Given the description of an element on the screen output the (x, y) to click on. 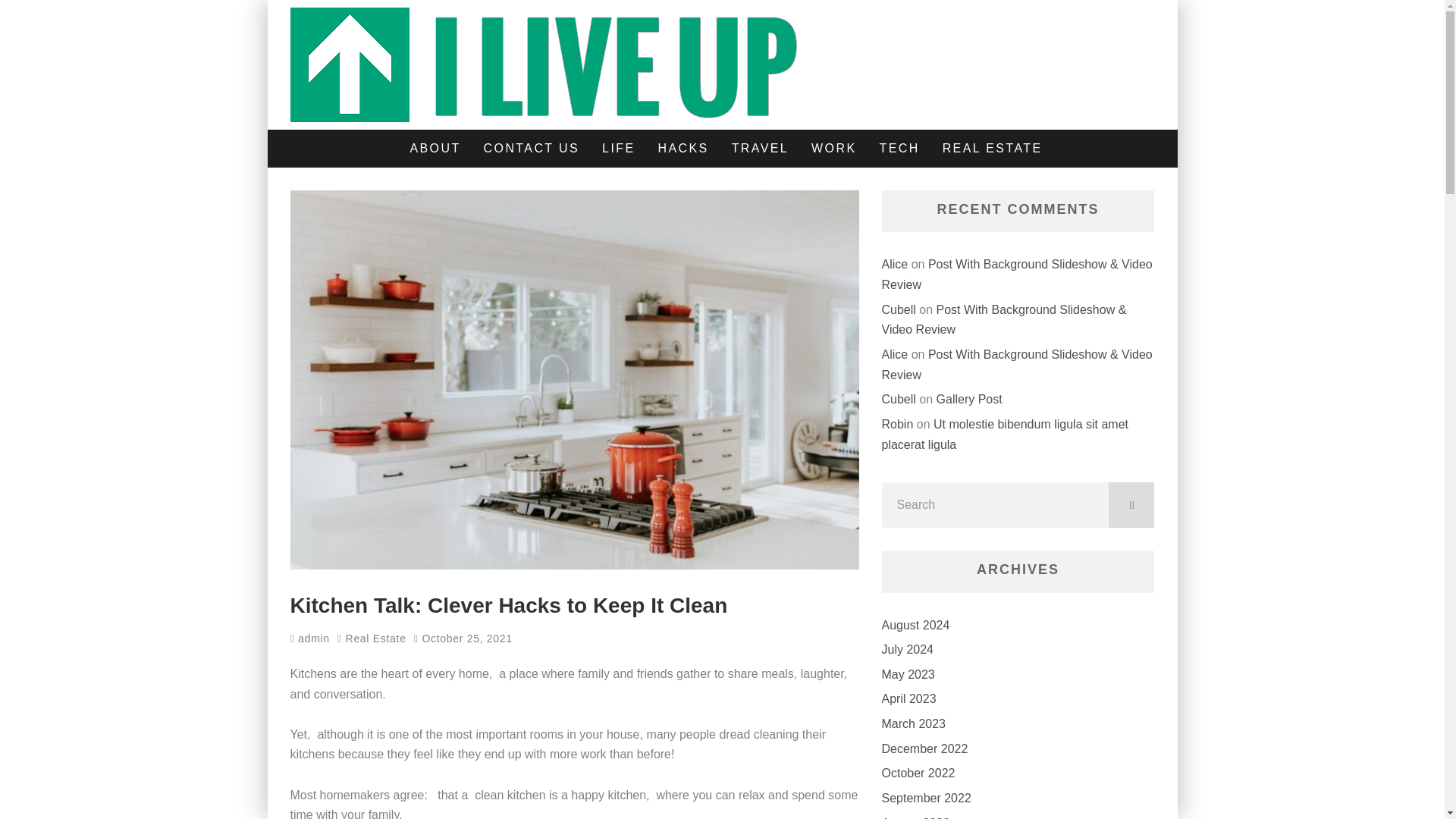
LIFE (618, 148)
CONTACT US (531, 148)
Real Estate (376, 638)
ABOUT (434, 148)
August 2024 (914, 625)
Alice (893, 354)
Alice (893, 264)
Robin (896, 423)
WORK (833, 148)
Gallery Post (969, 399)
